Given the description of an element on the screen output the (x, y) to click on. 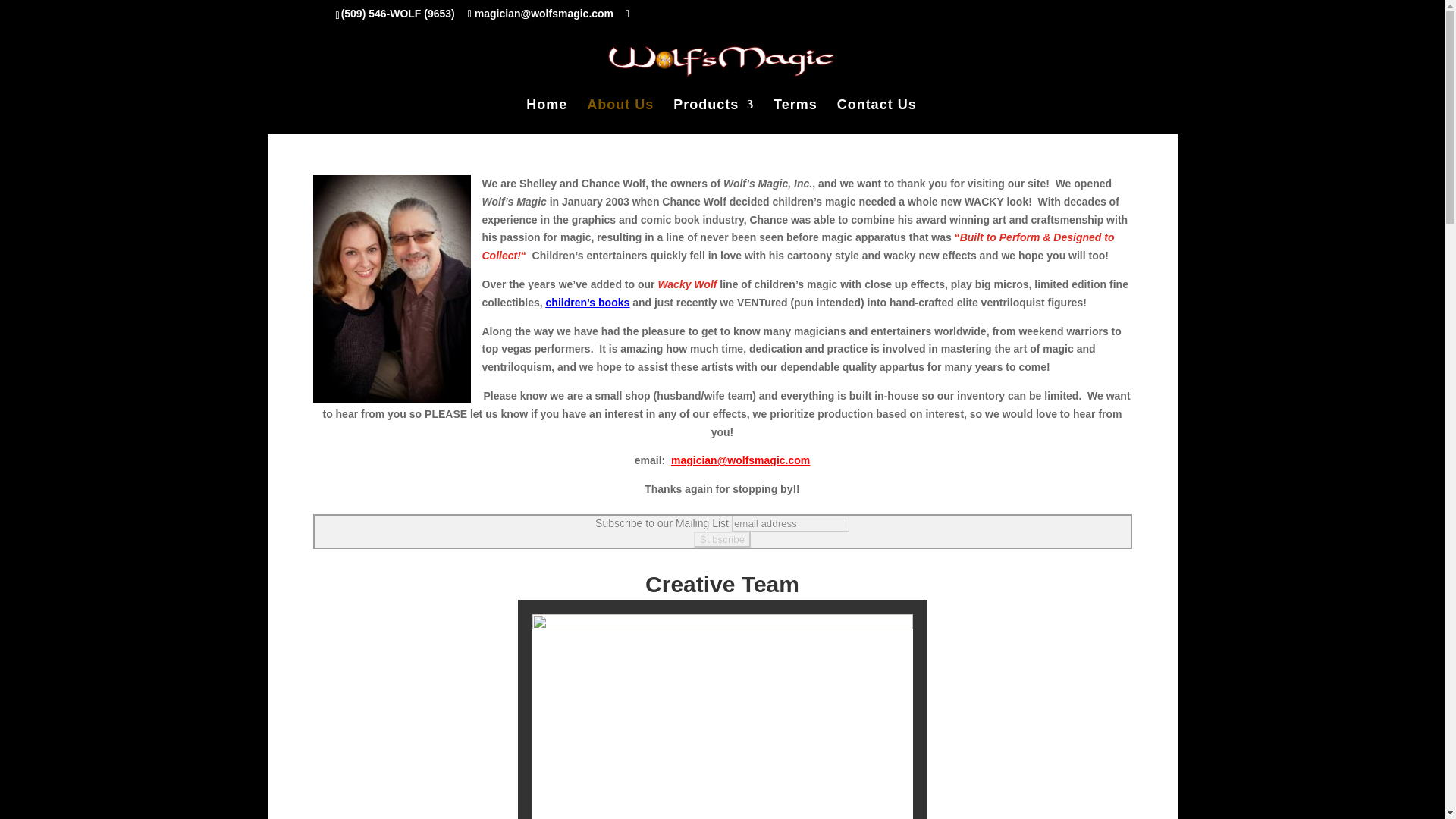
Contact Us (877, 111)
Products (713, 111)
About Us (619, 111)
Subscribe (722, 539)
Terms (794, 111)
Subscribe (722, 539)
Home (546, 111)
